Given the description of an element on the screen output the (x, y) to click on. 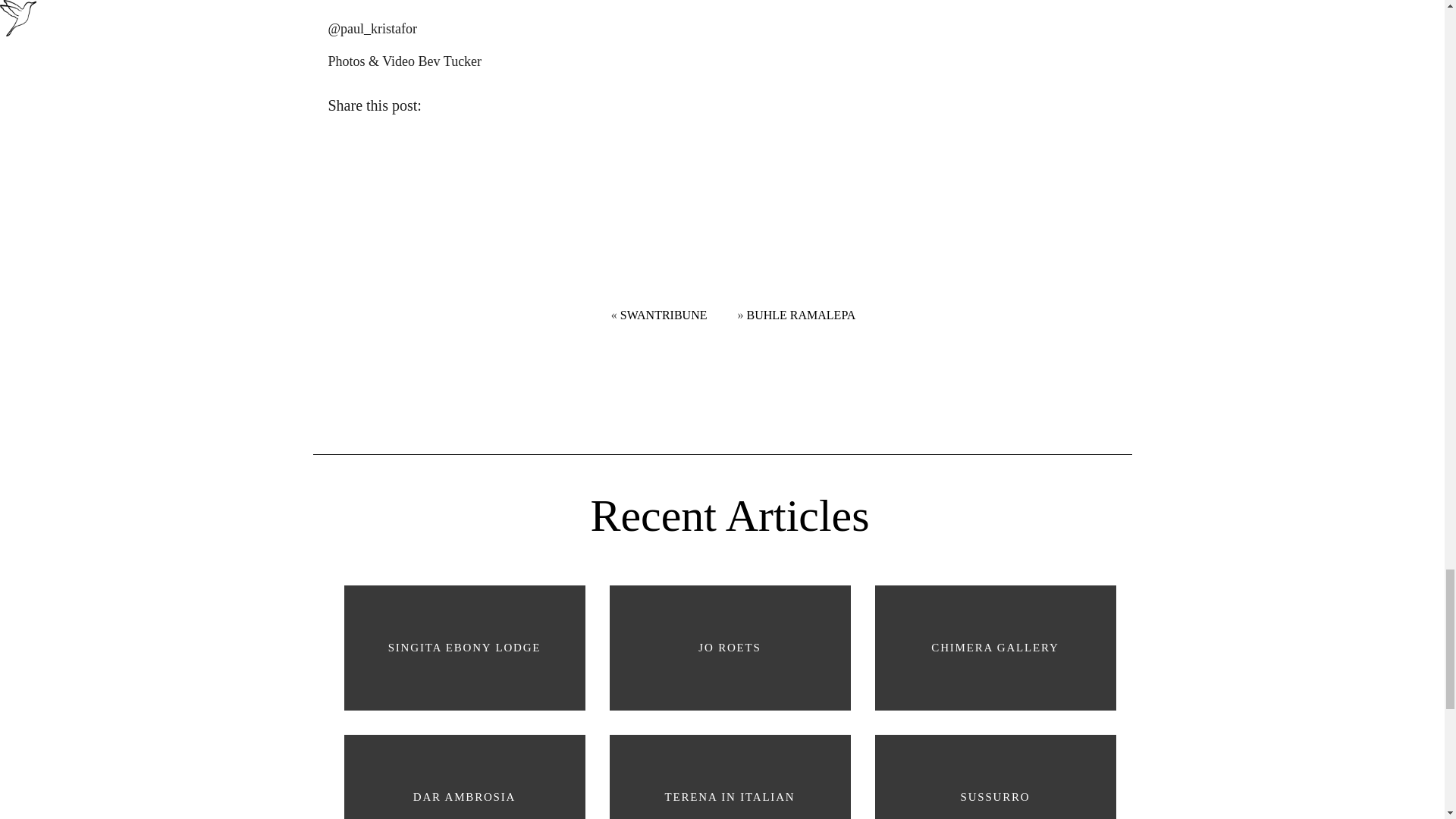
Twitter (478, 107)
DAR AMBROSIA (463, 770)
SWANTRIBUNE (663, 314)
CHIMERA GALLERY (995, 647)
TERENA IN ITALIAN (729, 770)
Facebook (444, 107)
Pinterest (512, 107)
SINGITA EBONY LODGE (463, 647)
Instagram (546, 107)
BUHLE RAMALEPA (800, 314)
JO ROETS (729, 647)
